Given the description of an element on the screen output the (x, y) to click on. 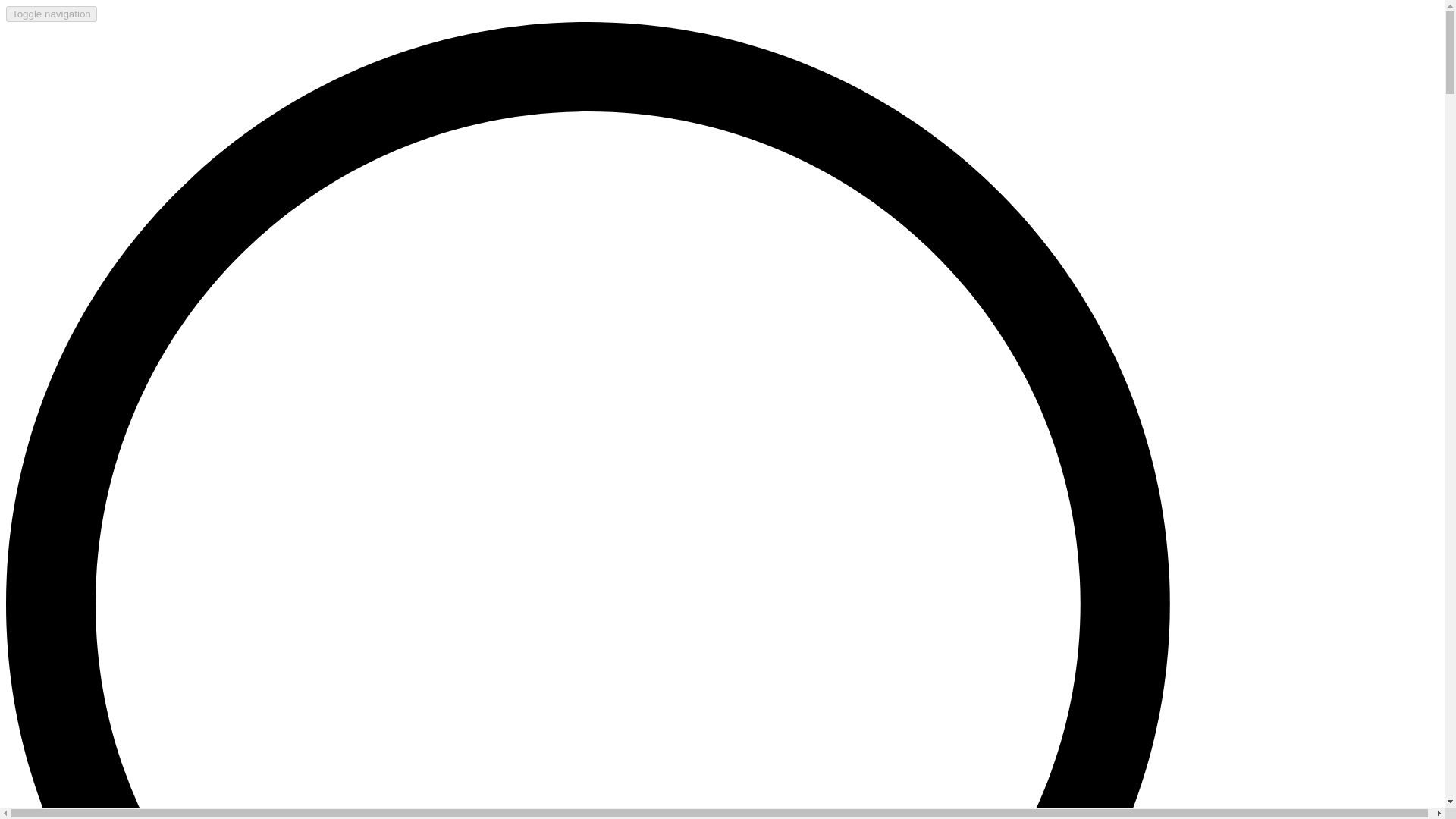
Toggle navigation (51, 13)
